Given the description of an element on the screen output the (x, y) to click on. 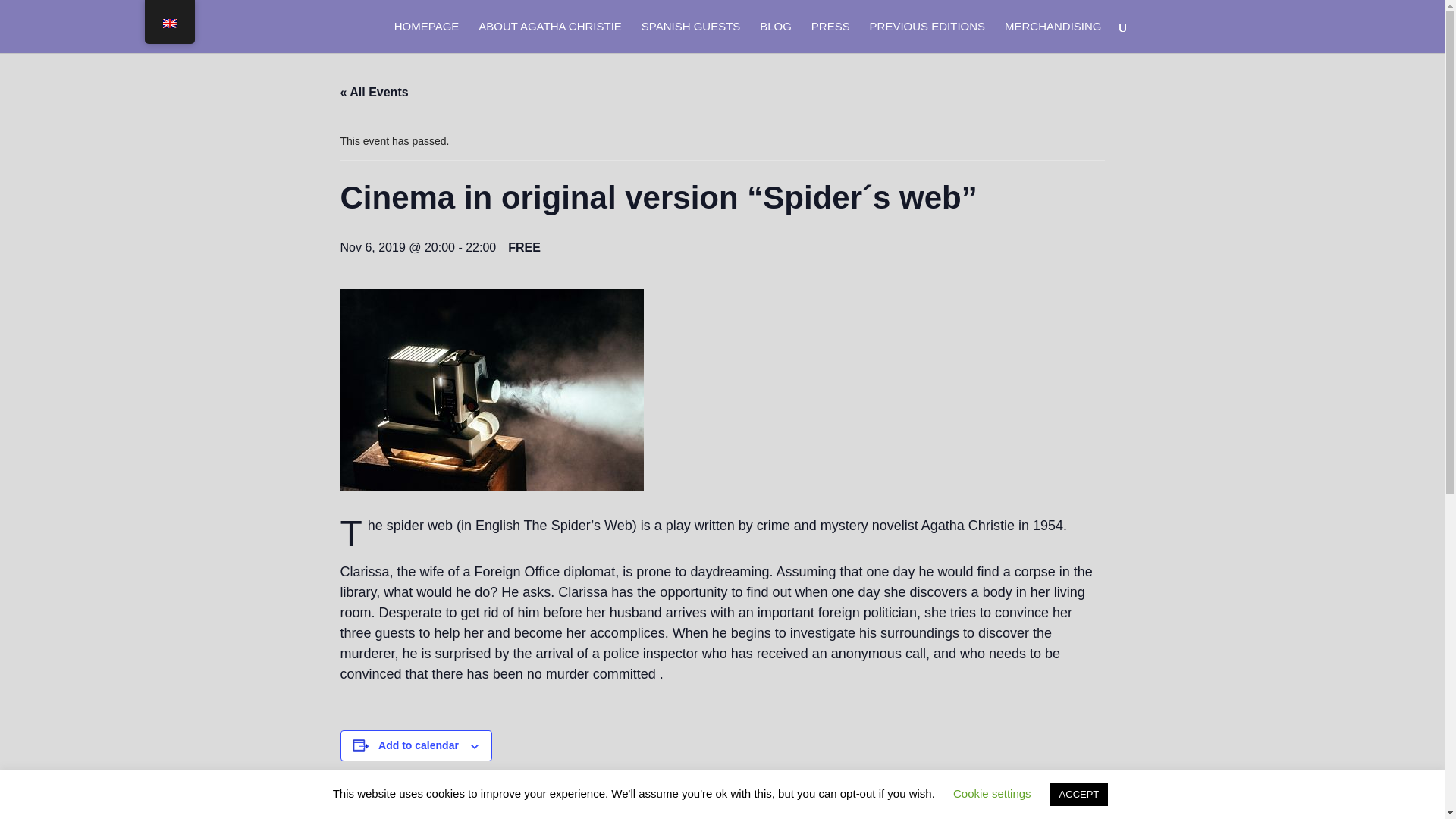
ABOUT AGATHA CHRISTIE (550, 37)
SPANISH GUESTS (691, 37)
PREVIOUS EDITIONS (927, 37)
English (168, 22)
PRESS (830, 37)
MERCHANDISING (1053, 37)
HOMEPAGE (427, 37)
ACCEPT (1078, 793)
BLOG (776, 37)
Add to calendar (418, 745)
Cookie settings (991, 793)
